Given the description of an element on the screen output the (x, y) to click on. 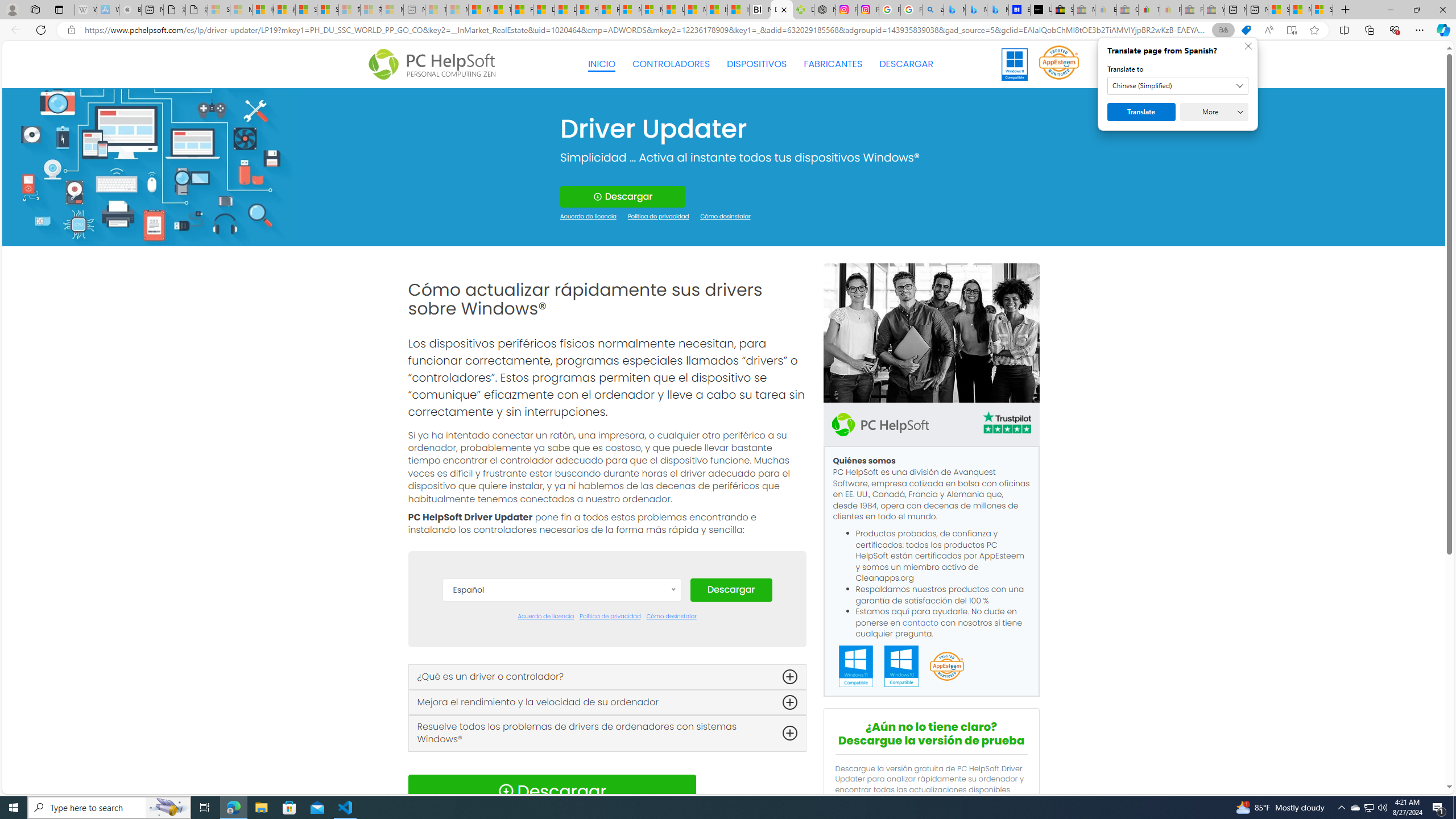
Descargar (730, 589)
contacto (920, 622)
Selling on eBay | Electronics, Fashion, Home & Garden | eBay (1062, 9)
Food and Drink - MSN (522, 9)
Press Room - eBay Inc. - Sleeping (1192, 9)
CONTROLADORES (670, 64)
Drinking tea every day is proven to delay biological aging (565, 9)
Dansk (561, 643)
Logo Personal Computing (435, 64)
US Heat Deaths Soared To Record High Last Year (673, 9)
